Given the description of an element on the screen output the (x, y) to click on. 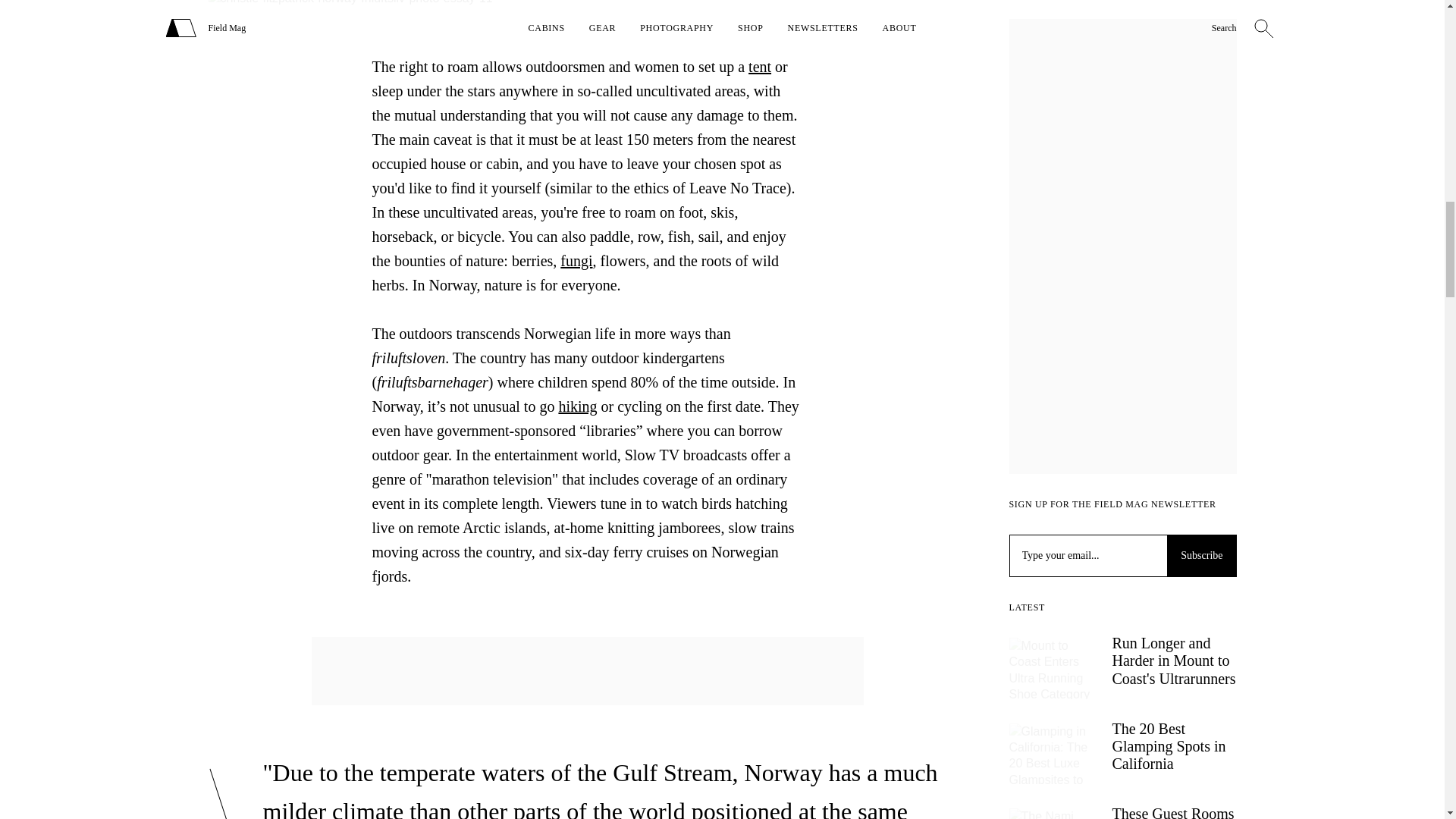
fungi (576, 260)
hiking (576, 406)
tent (759, 66)
